Given the description of an element on the screen output the (x, y) to click on. 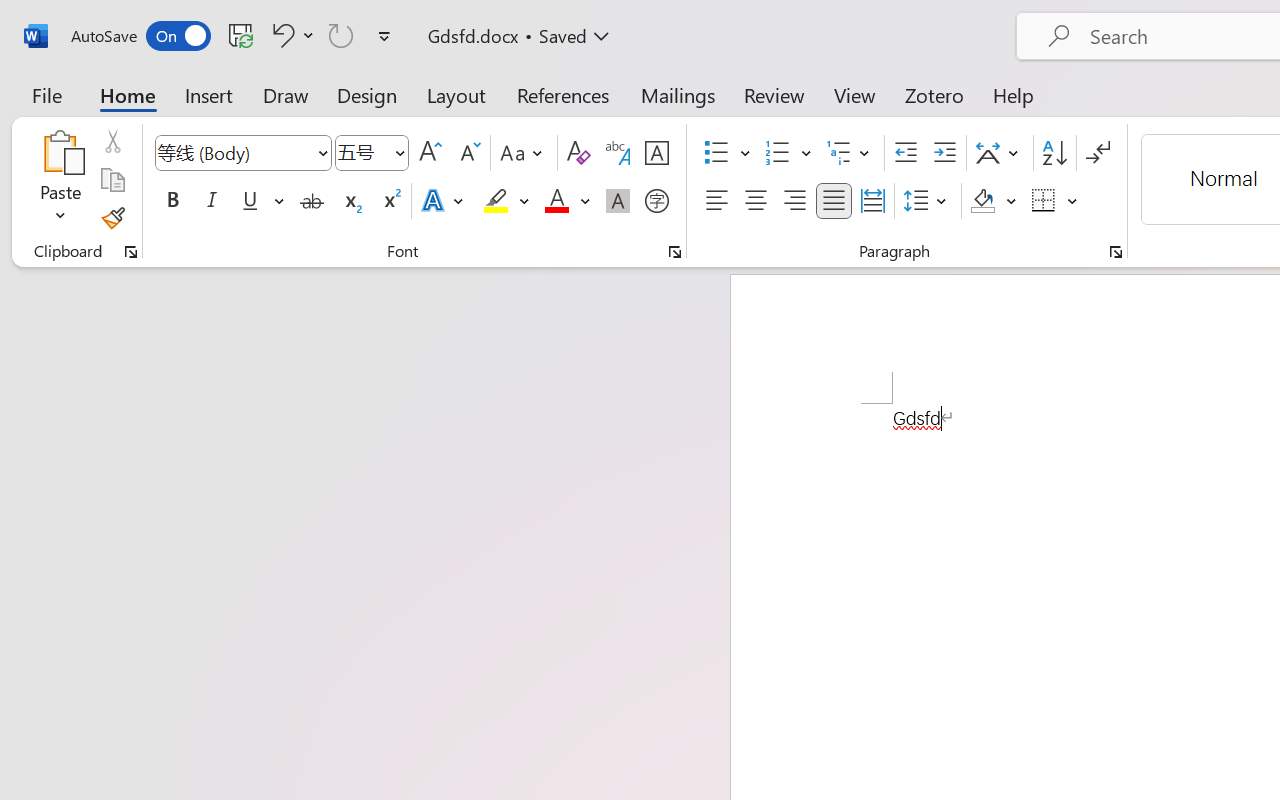
Sort... (1054, 153)
Undo Style (290, 35)
Justify (834, 201)
Text Highlight Color Yellow (495, 201)
Decrease Indent (906, 153)
Shrink Font (468, 153)
Center (756, 201)
Can't Repeat (341, 35)
Multilevel List (850, 153)
